Given the description of an element on the screen output the (x, y) to click on. 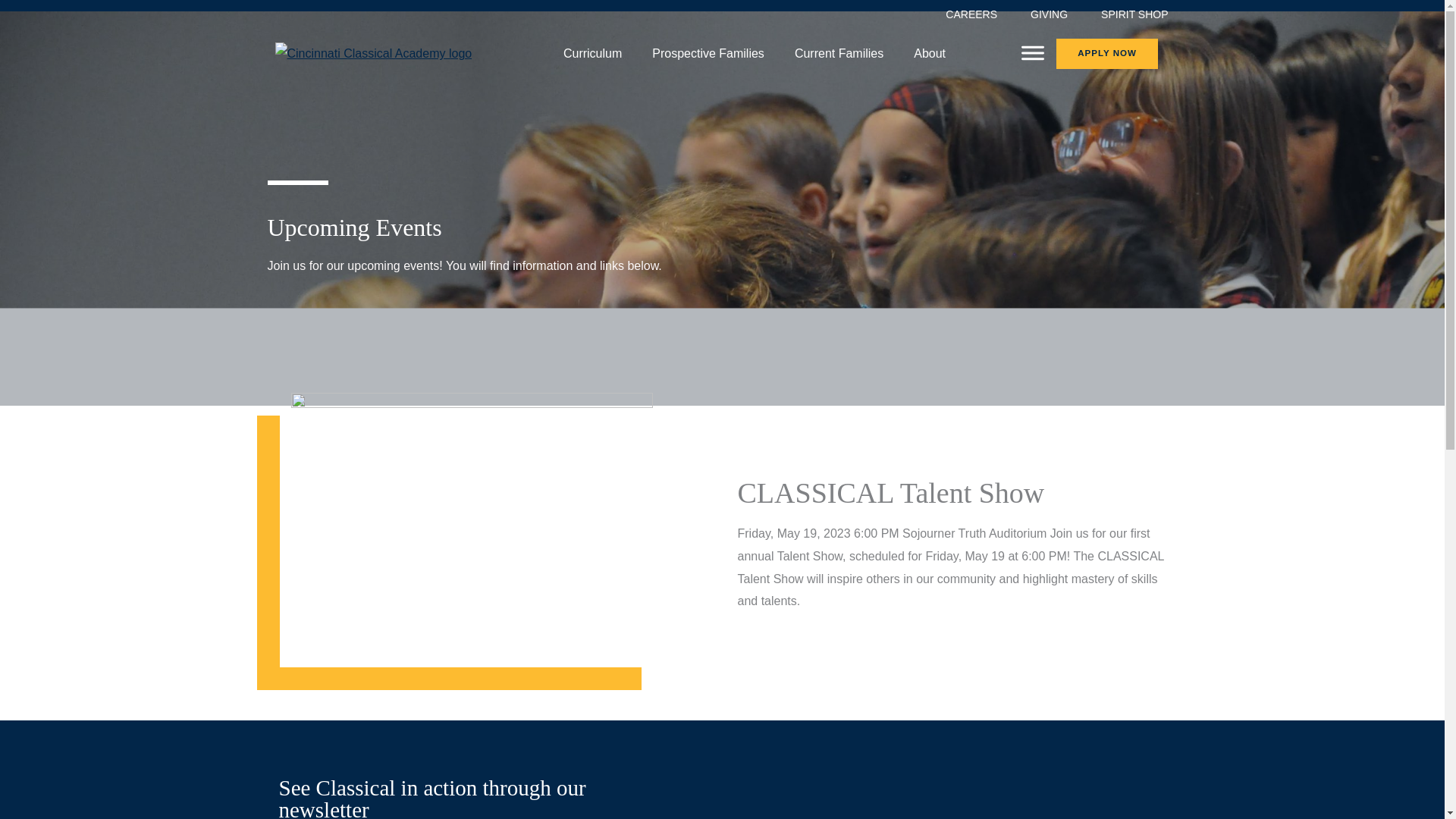
Prospective Families (707, 53)
Current Families (838, 53)
SPIRIT SHOP (1134, 14)
GIVING (1048, 14)
CAREERS (970, 14)
Curriculum (592, 53)
About (929, 53)
